Given the description of an element on the screen output the (x, y) to click on. 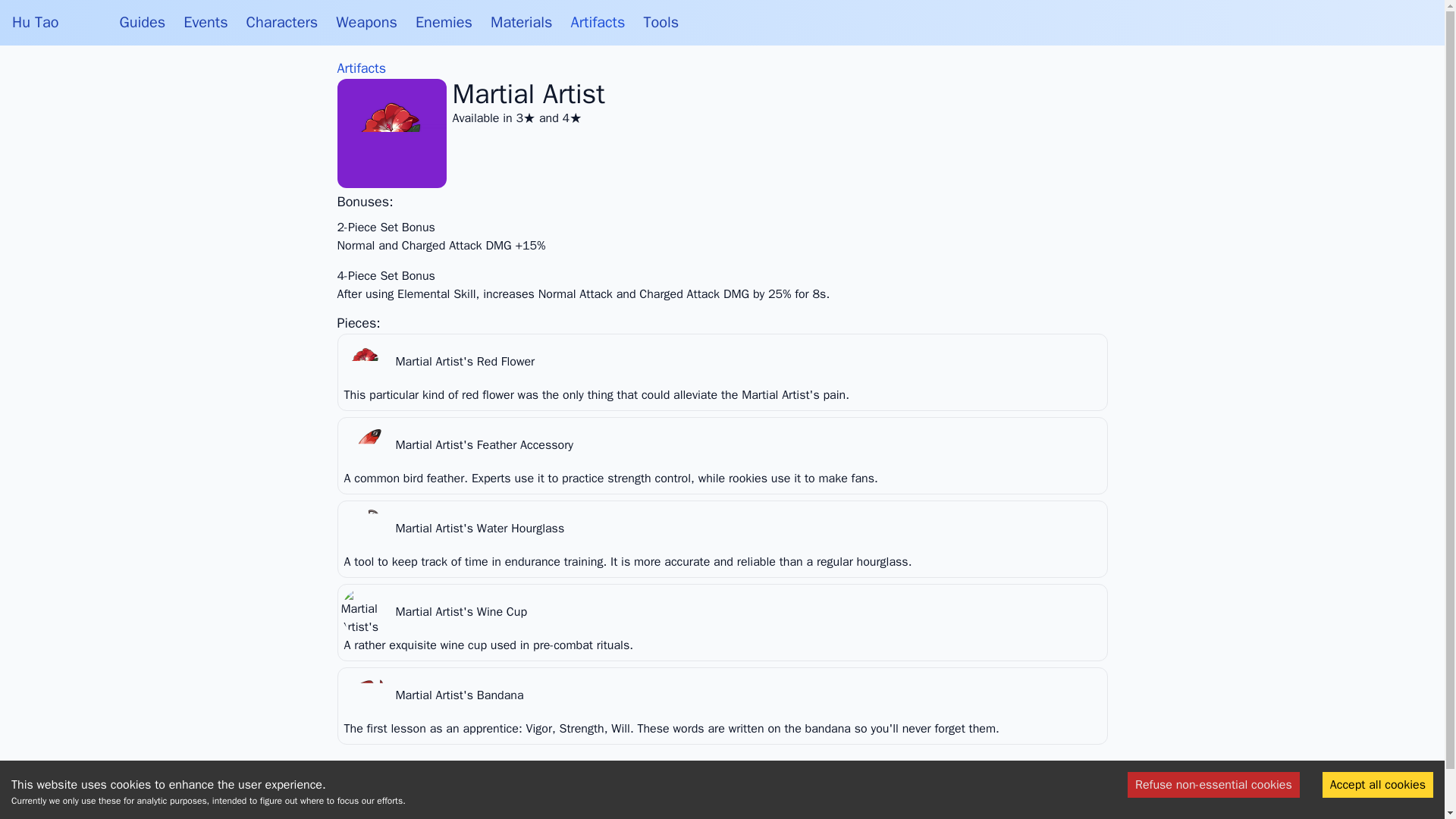
Accept all cookies (1377, 784)
Materials (520, 22)
Terms of Service (661, 791)
Events (205, 22)
Enemies (442, 22)
Artifacts (360, 67)
Changelog (746, 791)
Discord Support Server (847, 791)
Hu Tao (35, 22)
Refuse non-essential cookies (1213, 784)
